Given the description of an element on the screen output the (x, y) to click on. 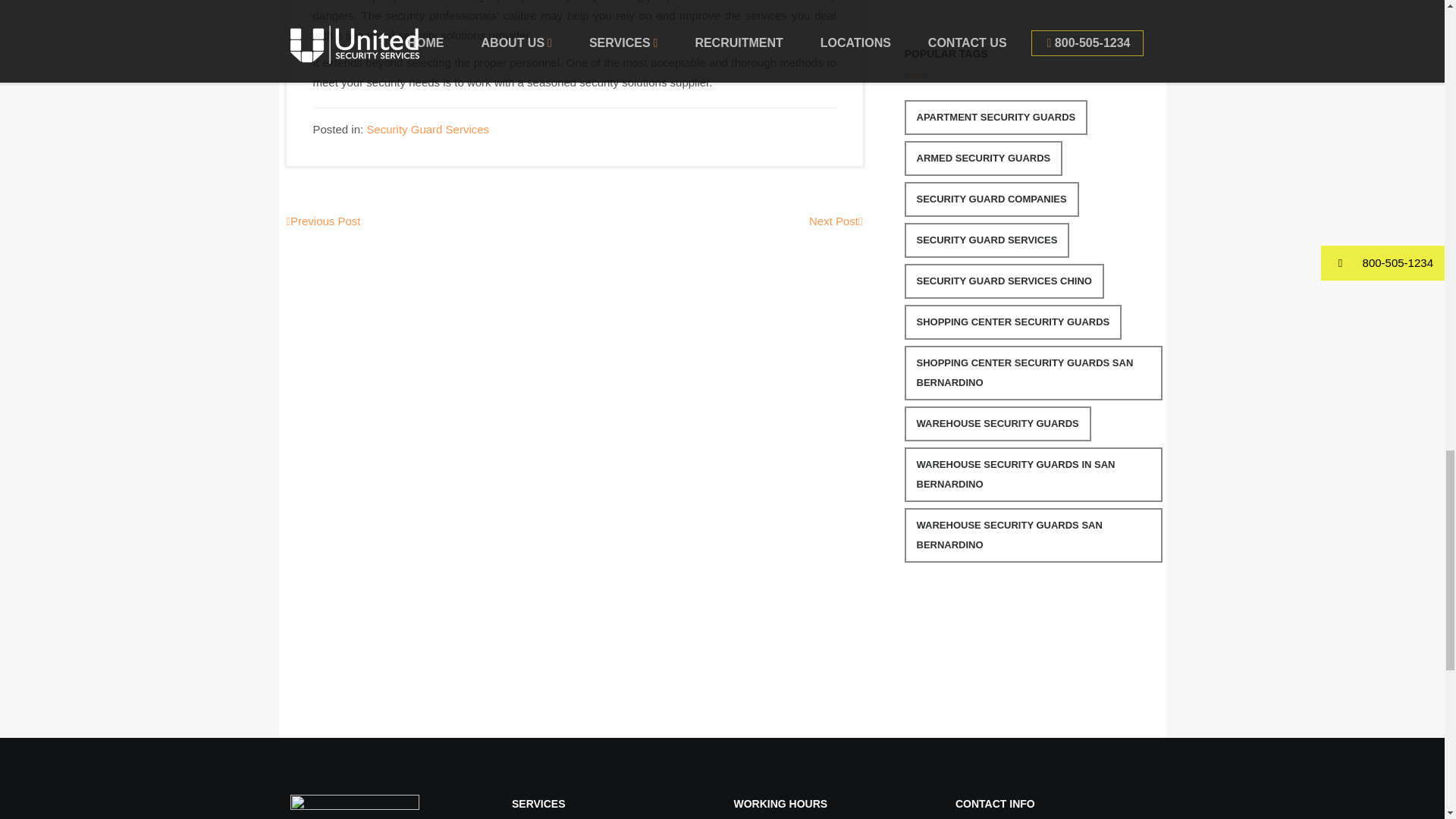
Training Required for Security Guards in Ontario (323, 220)
Next Post (836, 220)
Security Guard Services (427, 128)
Previous Post (323, 220)
